Given the description of an element on the screen output the (x, y) to click on. 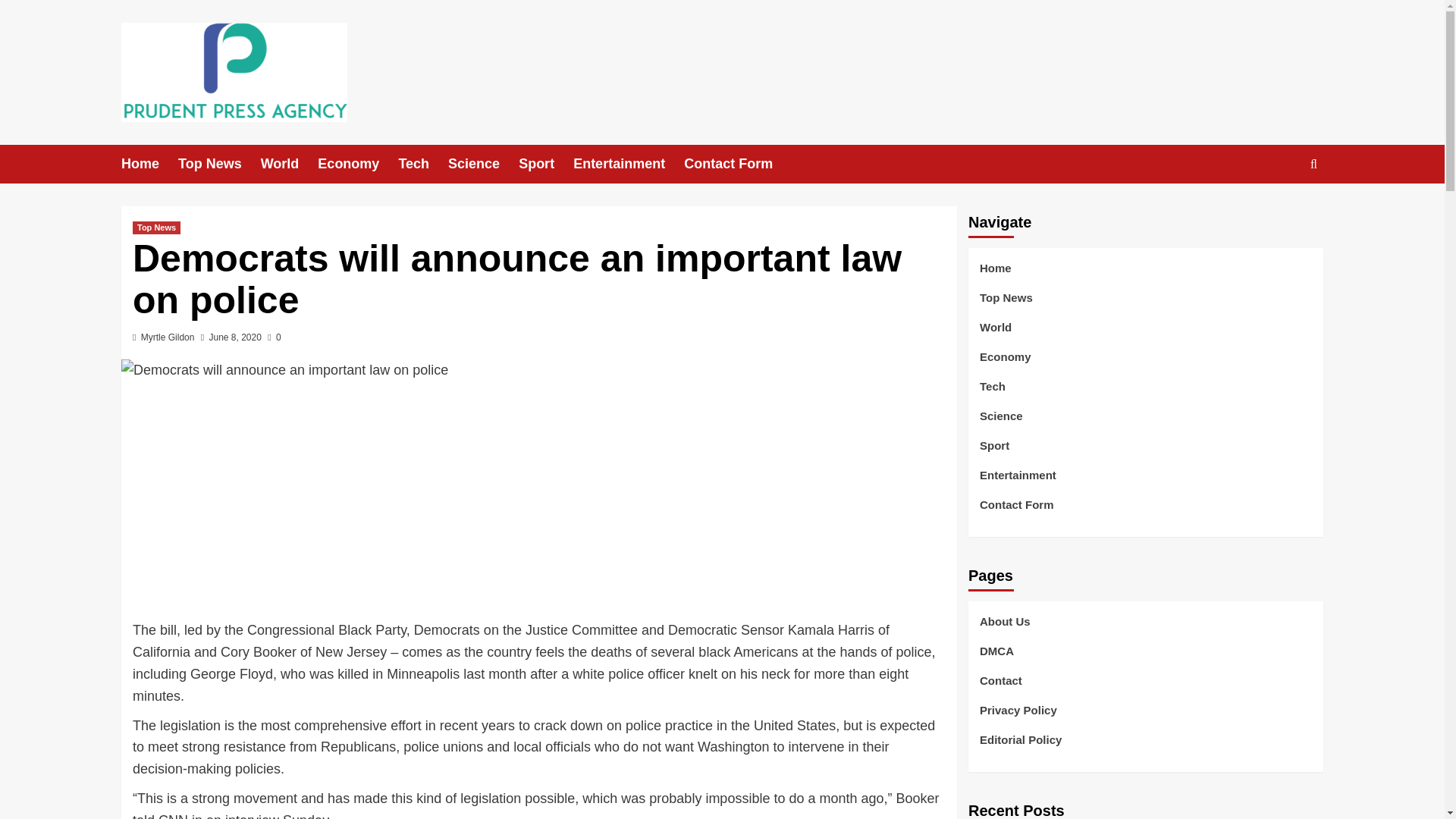
Science (483, 163)
Contact Form (738, 163)
Top News (218, 163)
Tech (422, 163)
Top News (156, 227)
Search (1278, 211)
June 8, 2020 (235, 337)
World (289, 163)
Entertainment (628, 163)
Sport (545, 163)
Home (148, 163)
0 (274, 337)
Myrtle Gildon (168, 337)
Economy (357, 163)
